Given the description of an element on the screen output the (x, y) to click on. 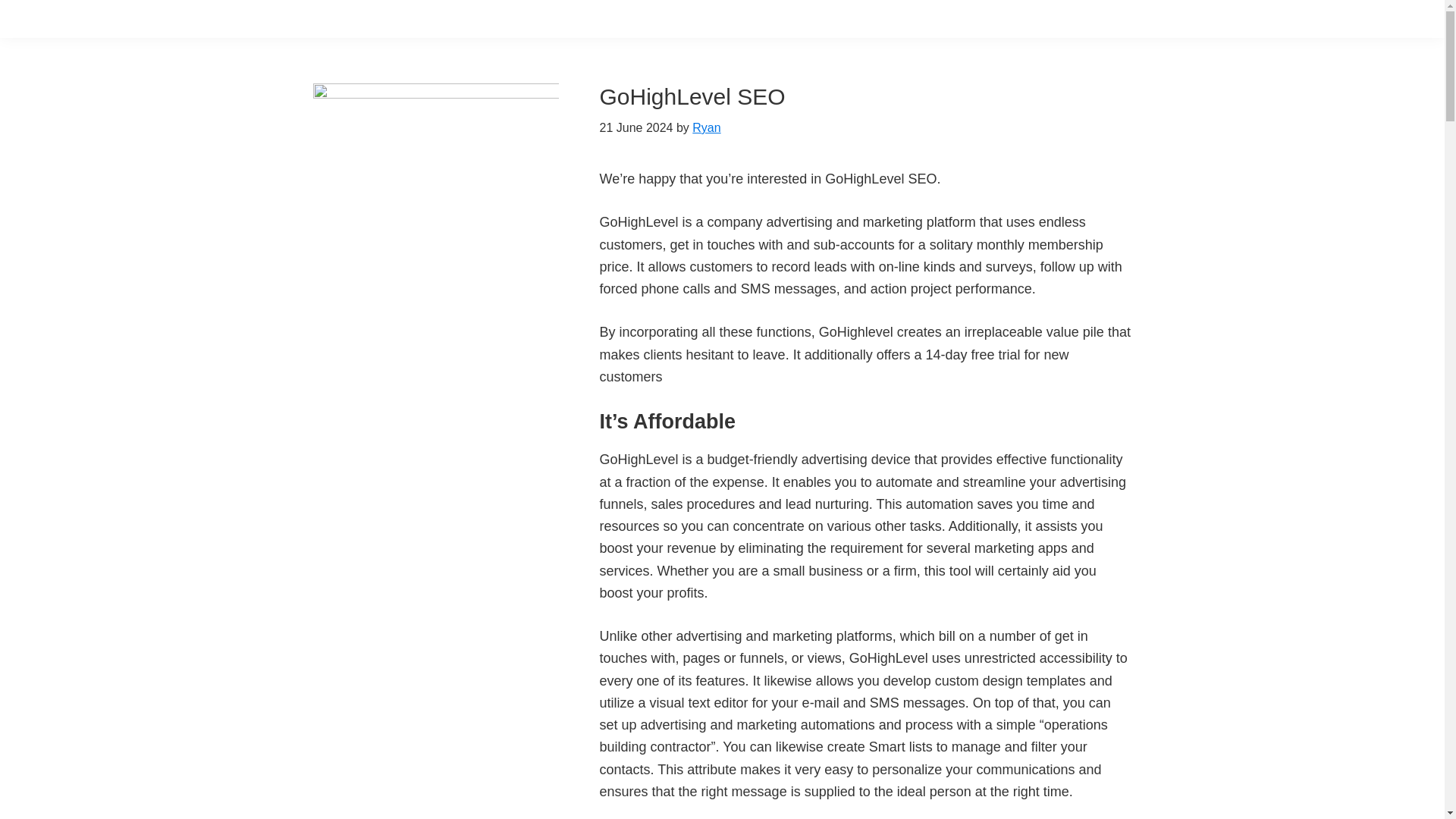
Ryan (706, 127)
